Given the description of an element on the screen output the (x, y) to click on. 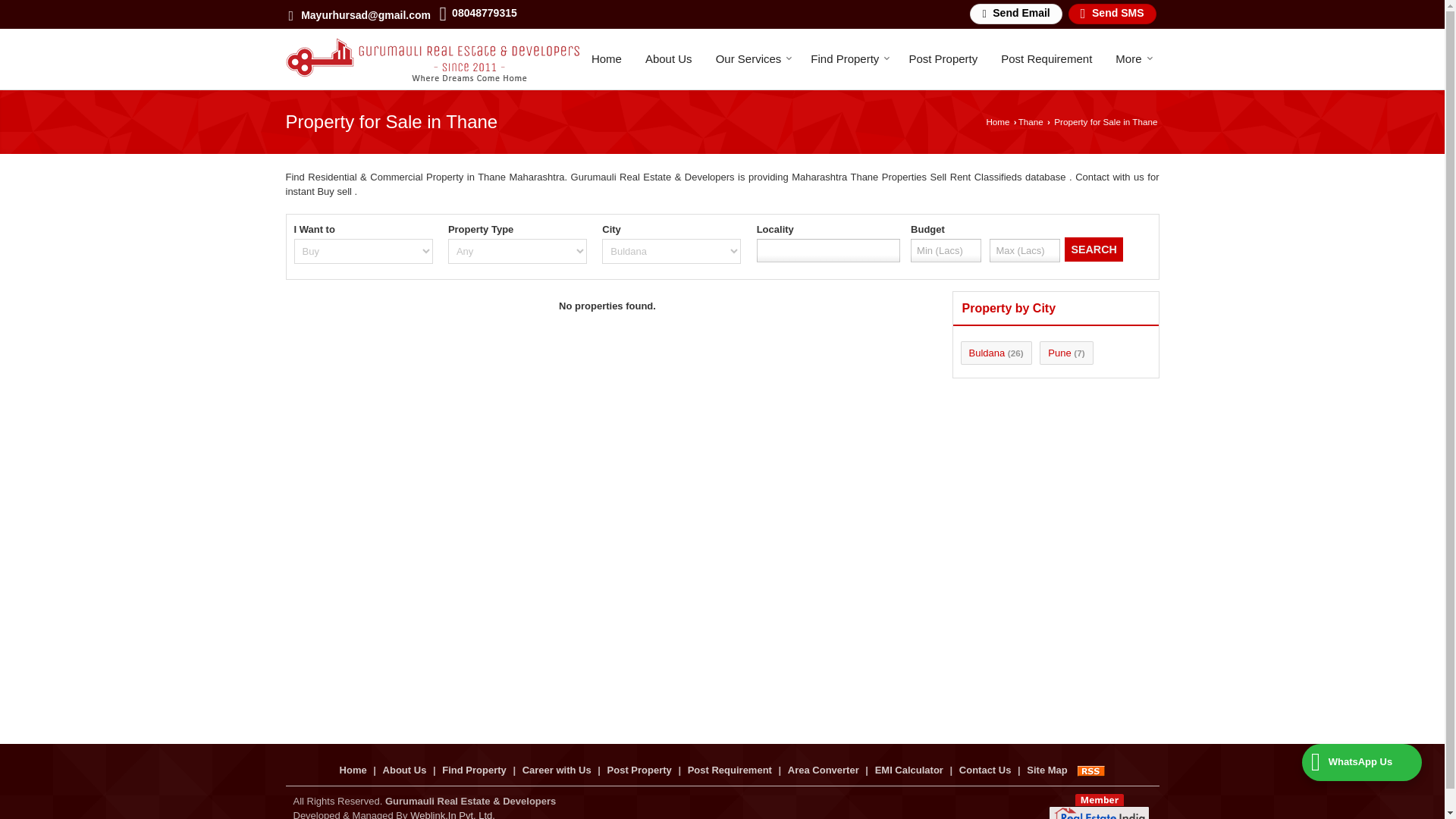
About Us (668, 59)
More (1130, 59)
Our Services (751, 59)
Thane (1030, 121)
SEARCH (1093, 249)
Find Property (847, 59)
Post Property (942, 59)
Post Requirement (1046, 59)
Send SMS (1112, 14)
SEARCH (1093, 249)
Our Services (751, 59)
Home (606, 59)
About Us (668, 59)
Send Email (1015, 14)
Find Property (847, 59)
